Given the description of an element on the screen output the (x, y) to click on. 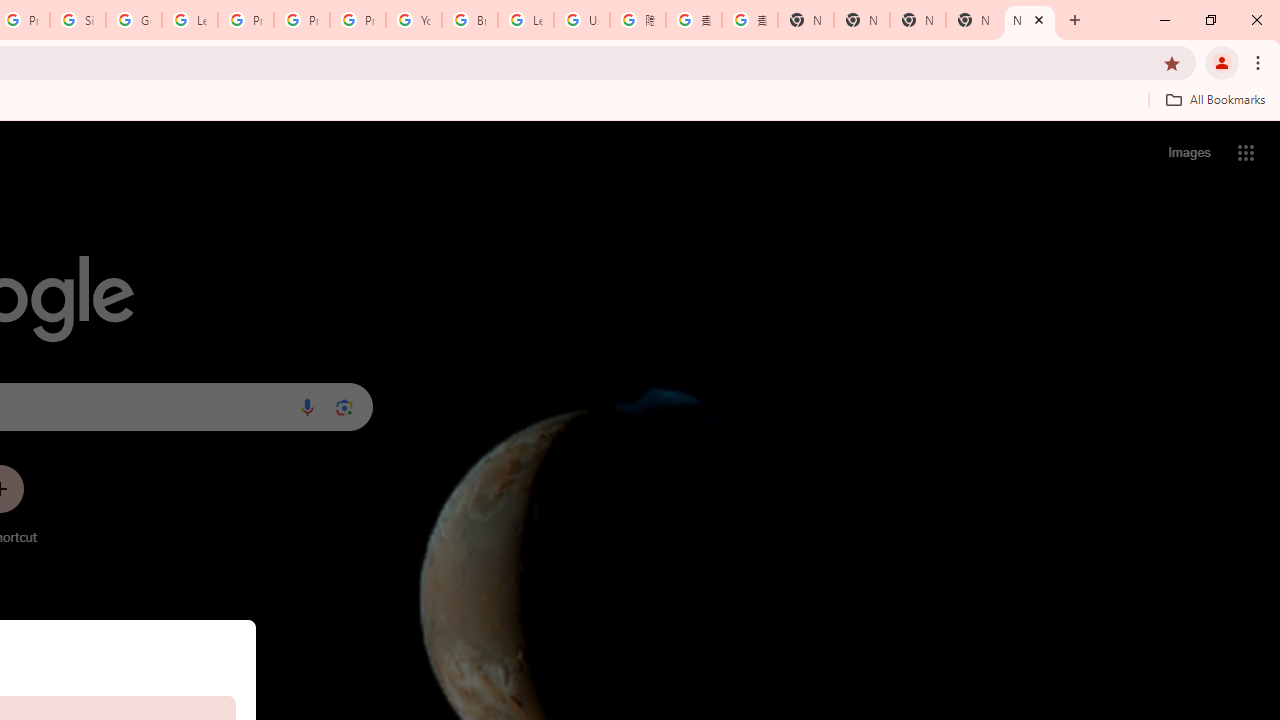
YouTube (413, 20)
Privacy Help Center - Policies Help (245, 20)
Sign in - Google Accounts (77, 20)
New Tab (806, 20)
